Given the description of an element on the screen output the (x, y) to click on. 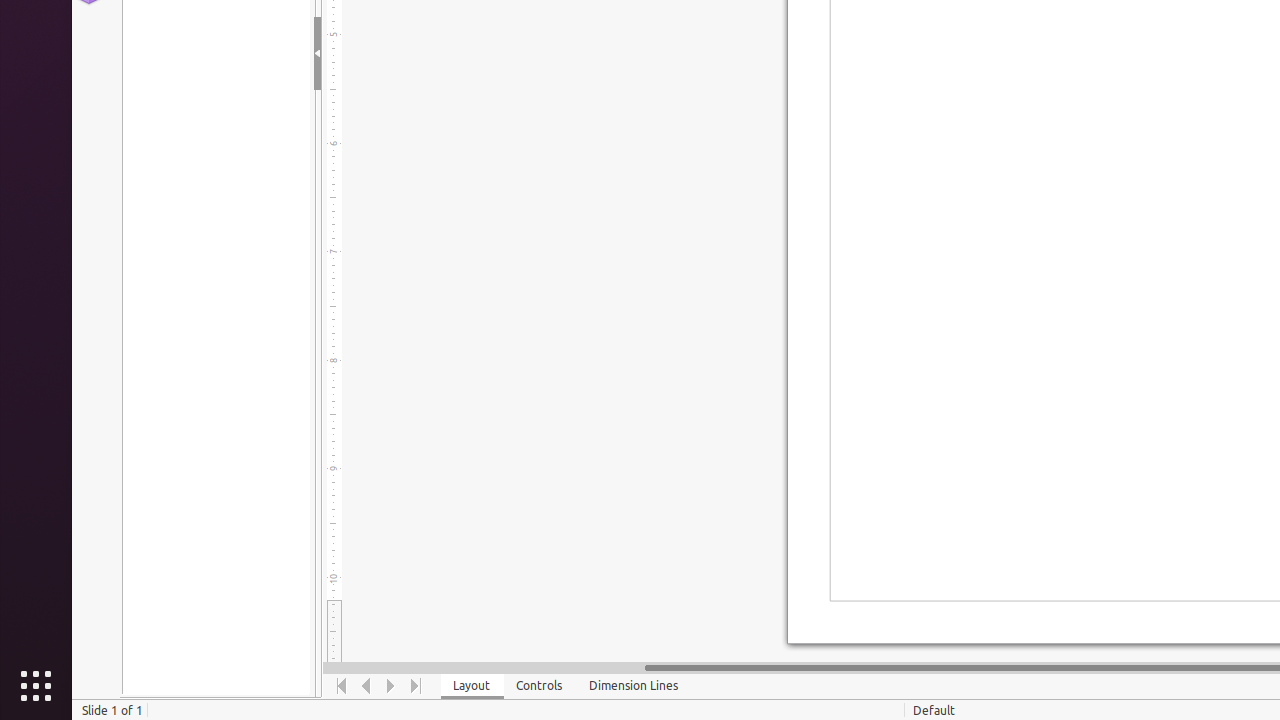
Move Right Element type: push-button (391, 686)
Controls Element type: page-tab (540, 686)
Move To Home Element type: push-button (341, 686)
Move To End Element type: push-button (416, 686)
Dimension Lines Element type: page-tab (634, 686)
